Given the description of an element on the screen output the (x, y) to click on. 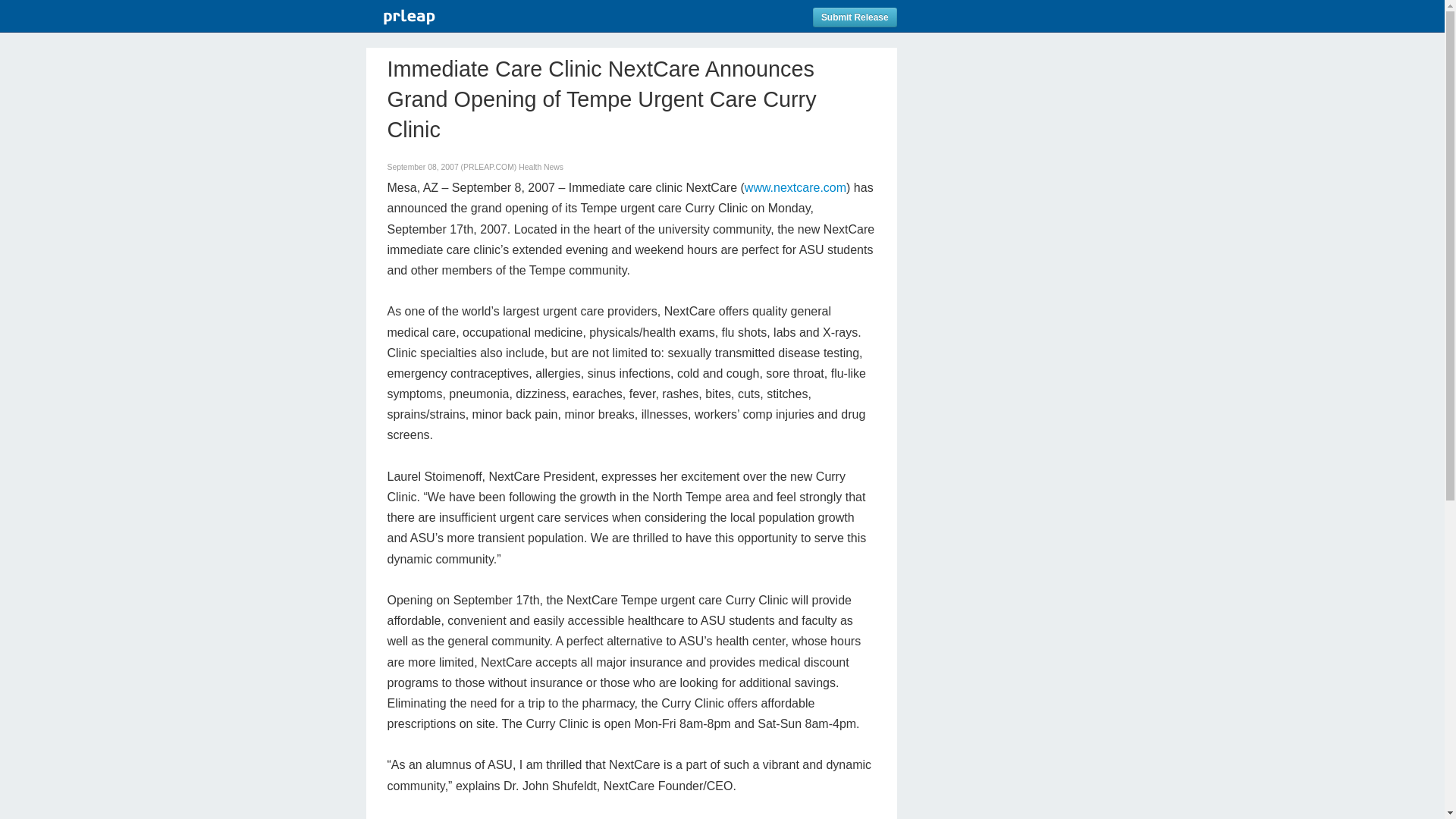
Health News (540, 166)
www.nextcare.com (794, 187)
Submit Release (854, 17)
